Given the description of an element on the screen output the (x, y) to click on. 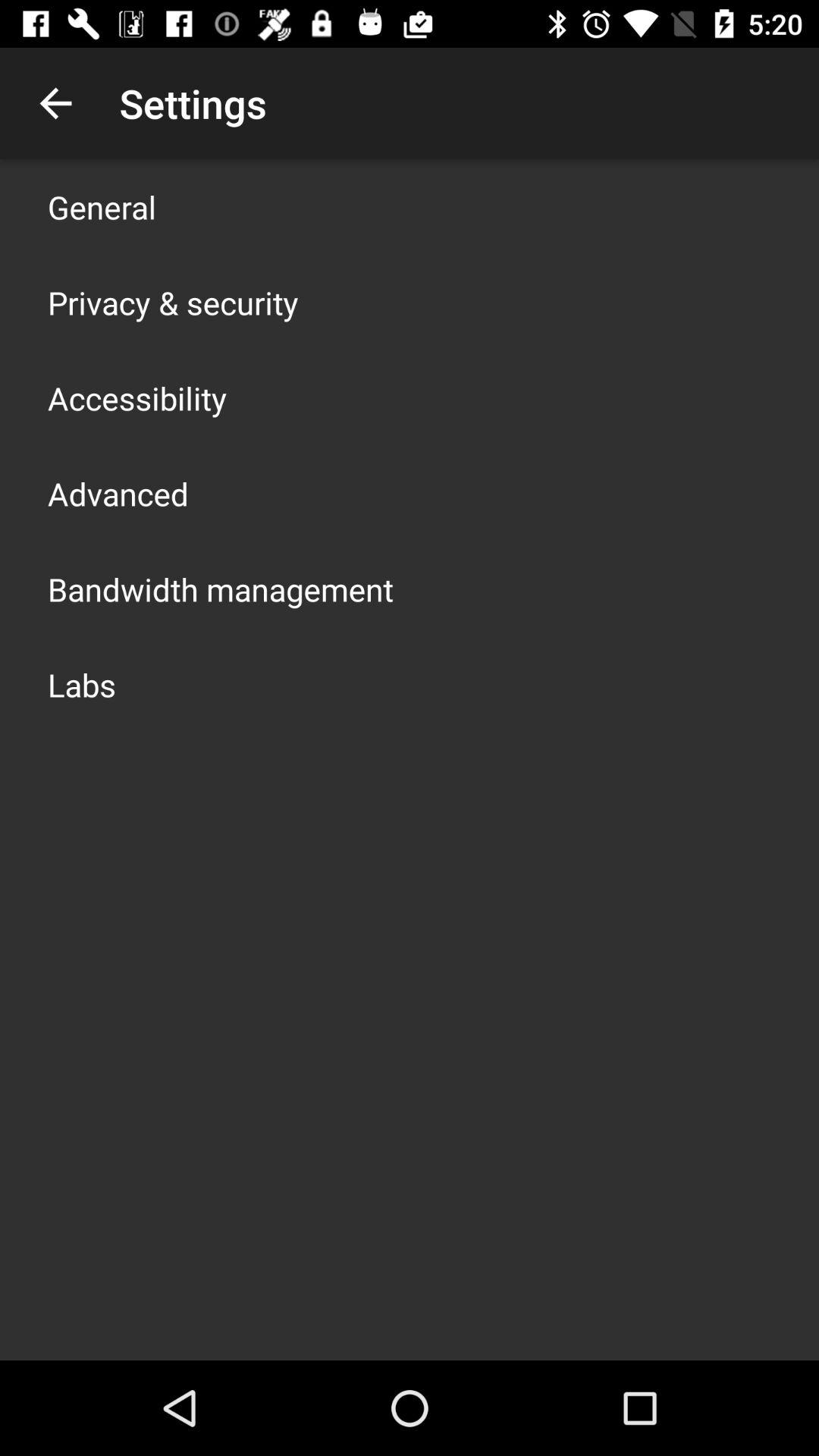
tap app below the privacy & security item (136, 397)
